Given the description of an element on the screen output the (x, y) to click on. 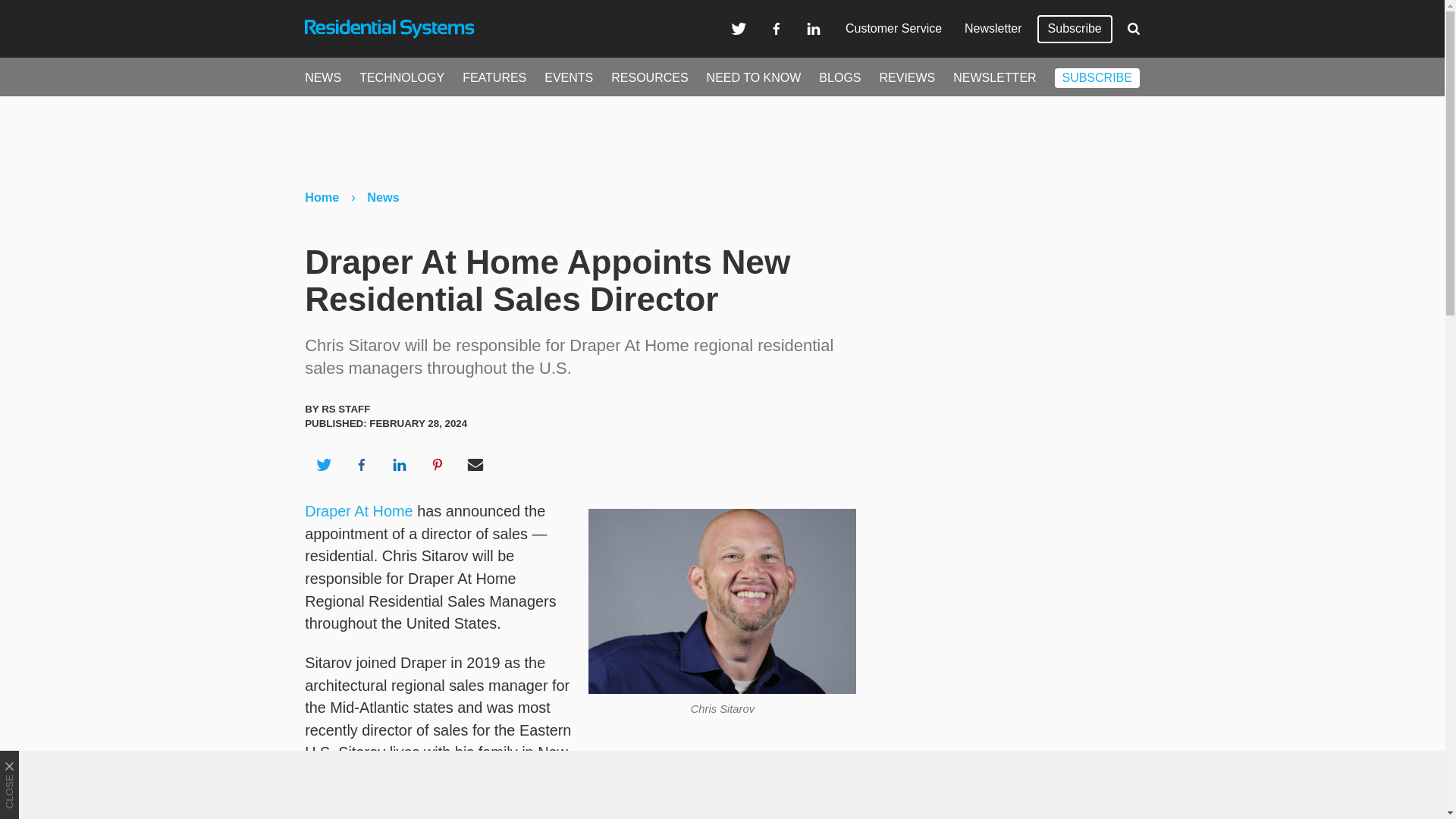
Share via Email (476, 464)
Share on LinkedIn (399, 464)
Share on Facebook (361, 464)
Share on Twitter (323, 464)
Share on Pinterest (438, 464)
